Given the description of an element on the screen output the (x, y) to click on. 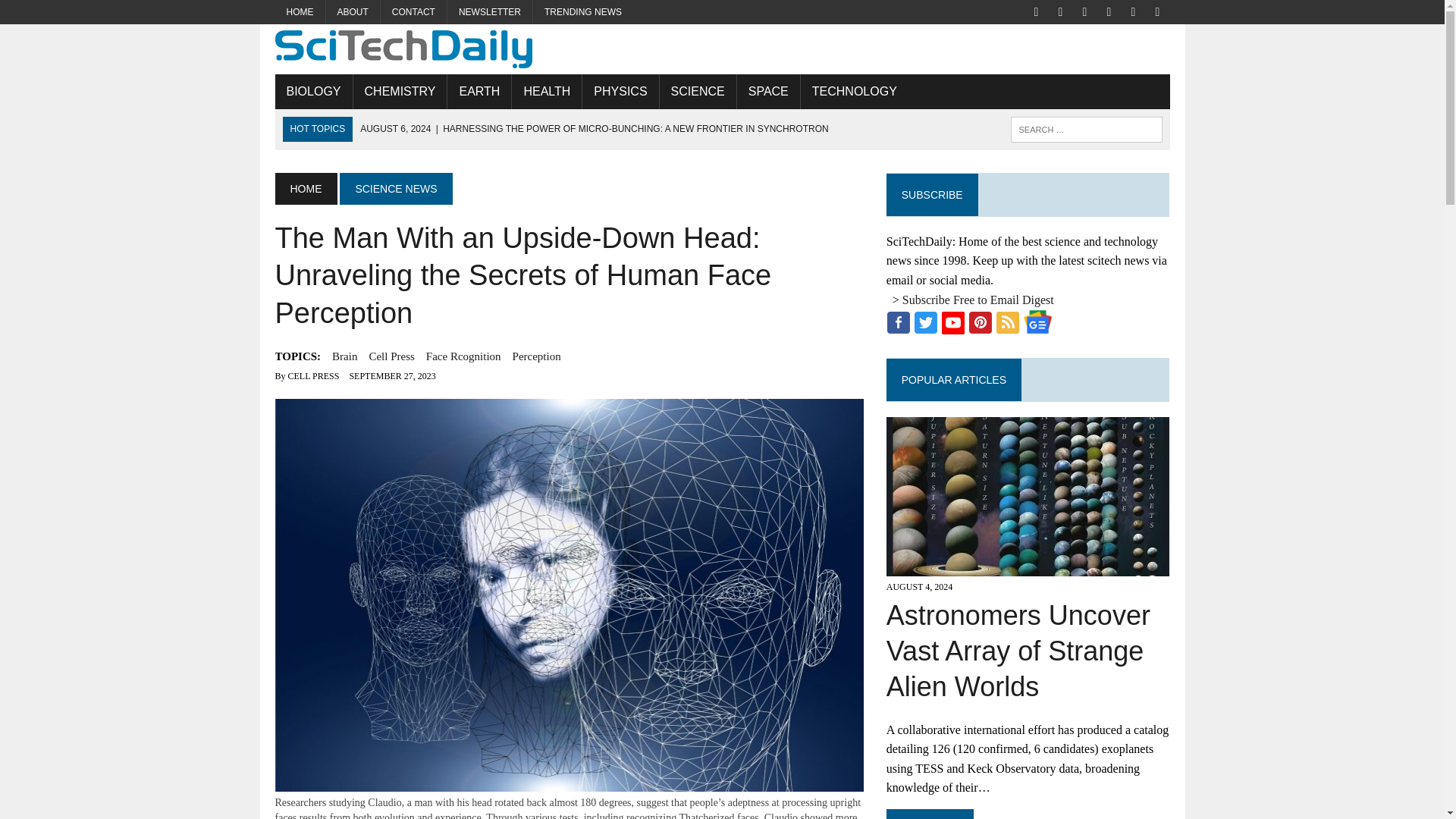
Search (75, 14)
NEWSLETTER (489, 12)
TRENDING NEWS (582, 12)
CONTACT (413, 12)
SCIENCE NEWS (395, 188)
SCIENCE (697, 91)
ABOUT (353, 12)
Brain (343, 356)
EARTH (478, 91)
